Given the description of an element on the screen output the (x, y) to click on. 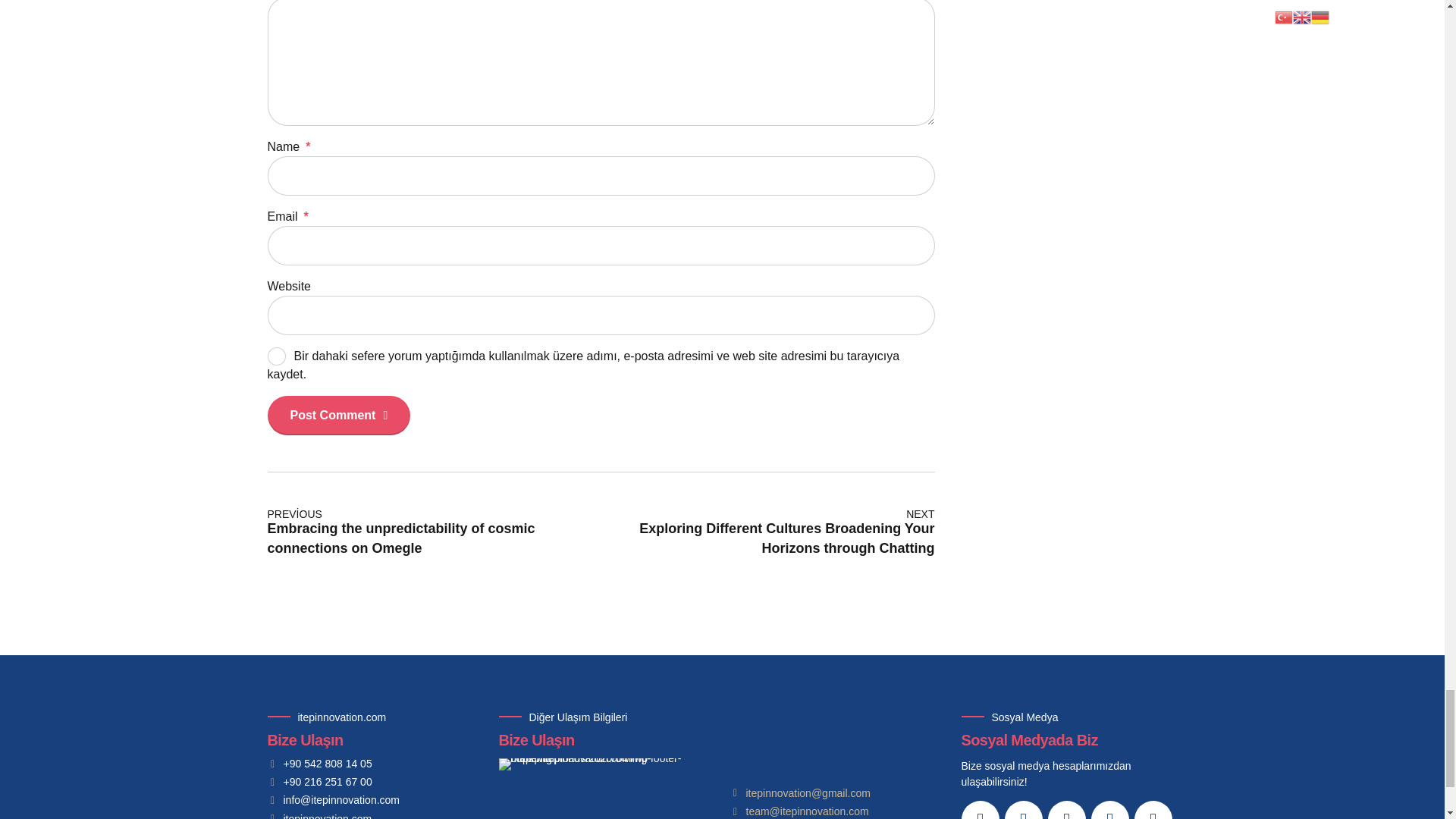
yes (275, 356)
itepinnovation.com (318, 816)
Post Comment (338, 414)
